Given the description of an element on the screen output the (x, y) to click on. 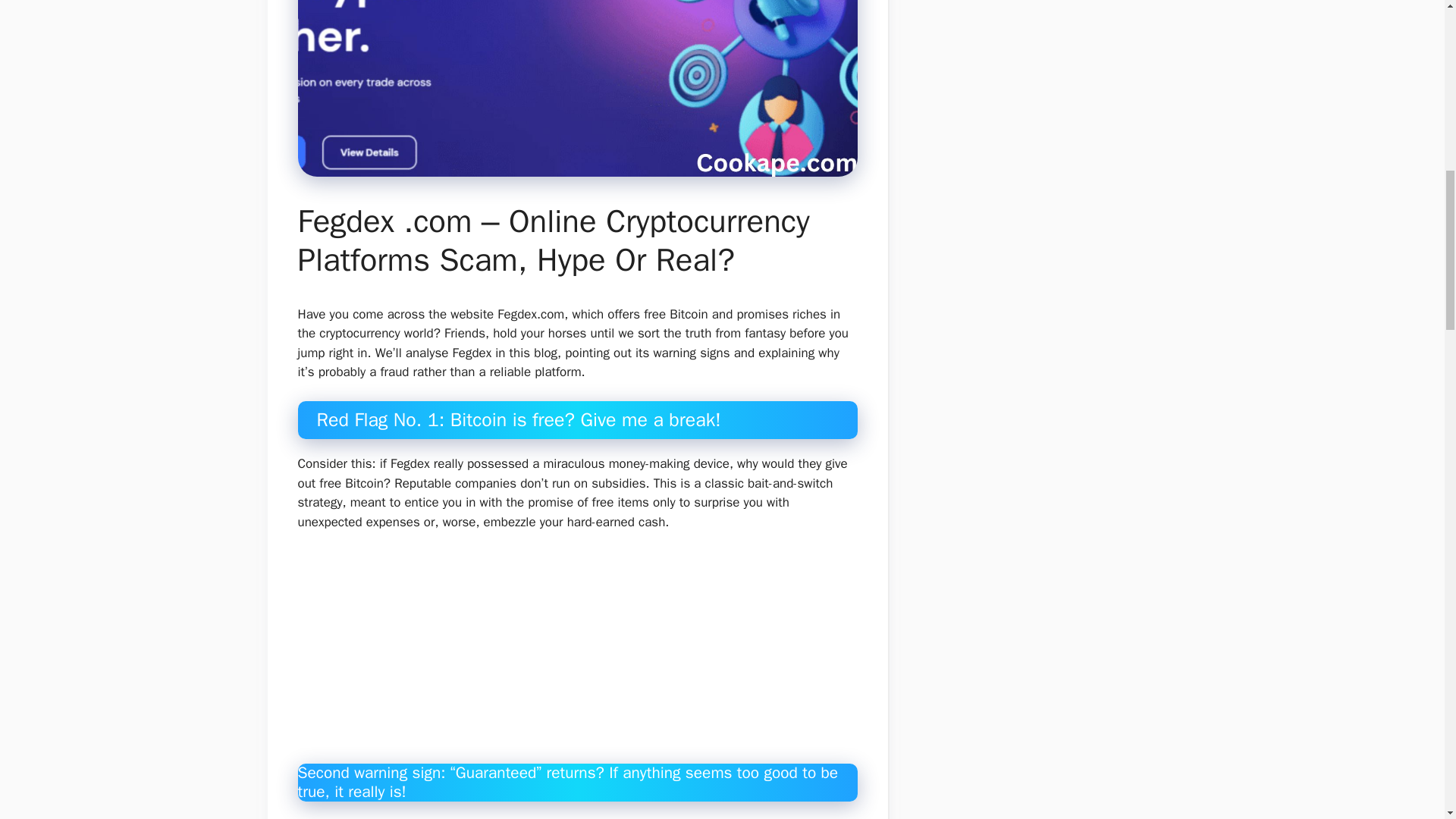
Scroll back to top (1406, 720)
Advertisement (589, 657)
